Given the description of an element on the screen output the (x, y) to click on. 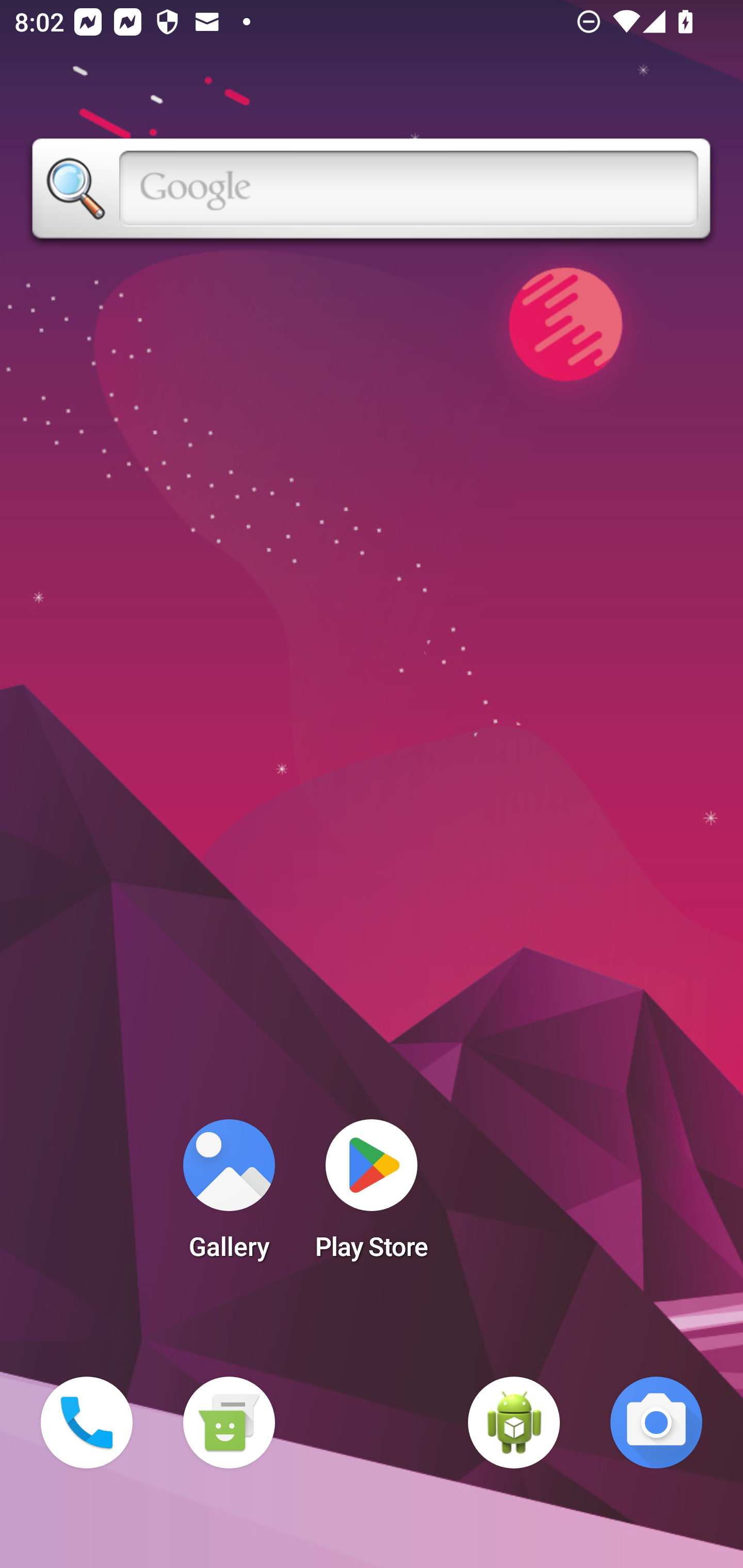
Gallery (228, 1195)
Play Store (371, 1195)
Phone (86, 1422)
Messaging (228, 1422)
WebView Browser Tester (513, 1422)
Camera (656, 1422)
